Given the description of an element on the screen output the (x, y) to click on. 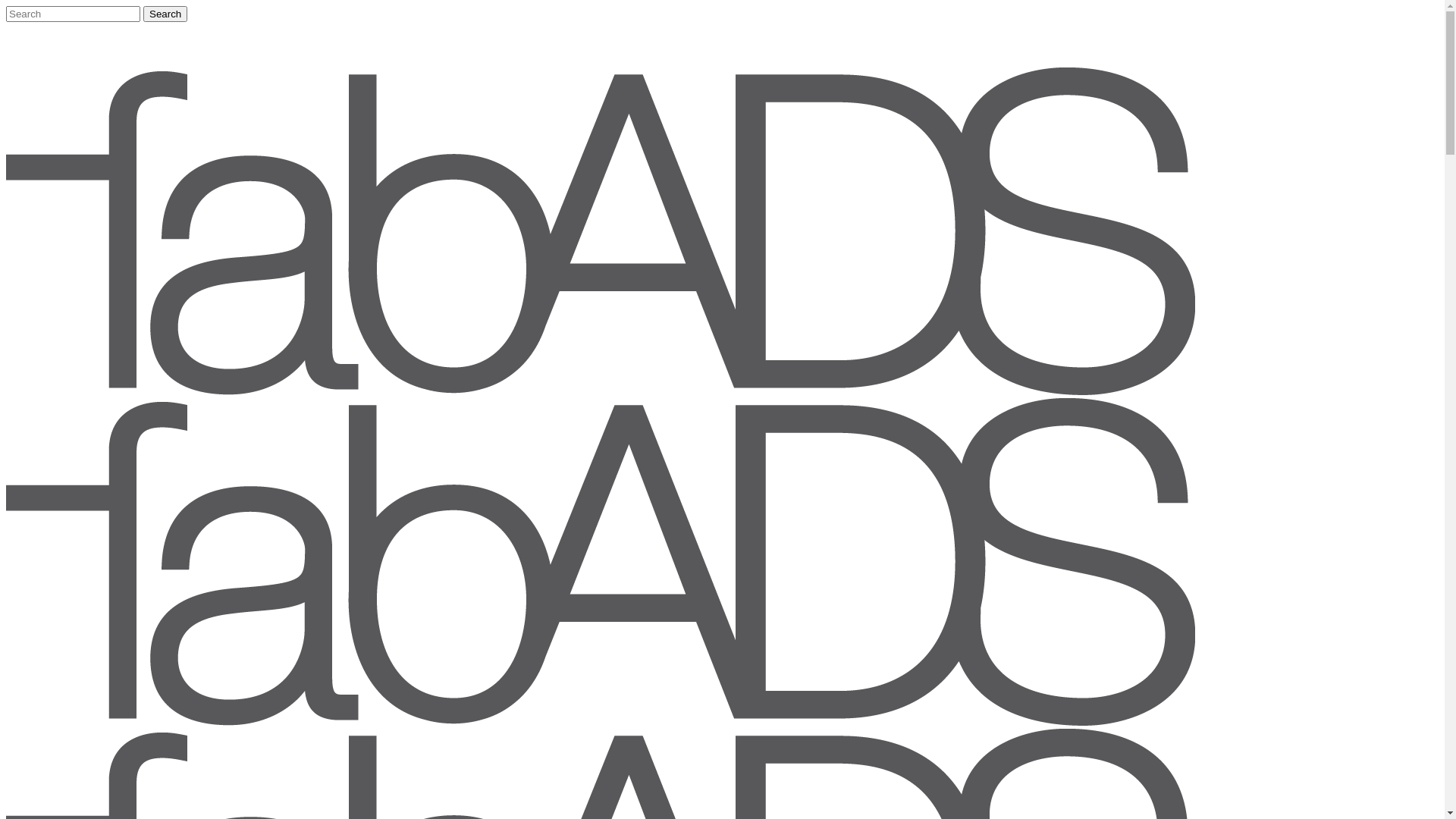
Search Element type: text (165, 13)
info@fabads.com.au Element type: text (50, 27)
